Given the description of an element on the screen output the (x, y) to click on. 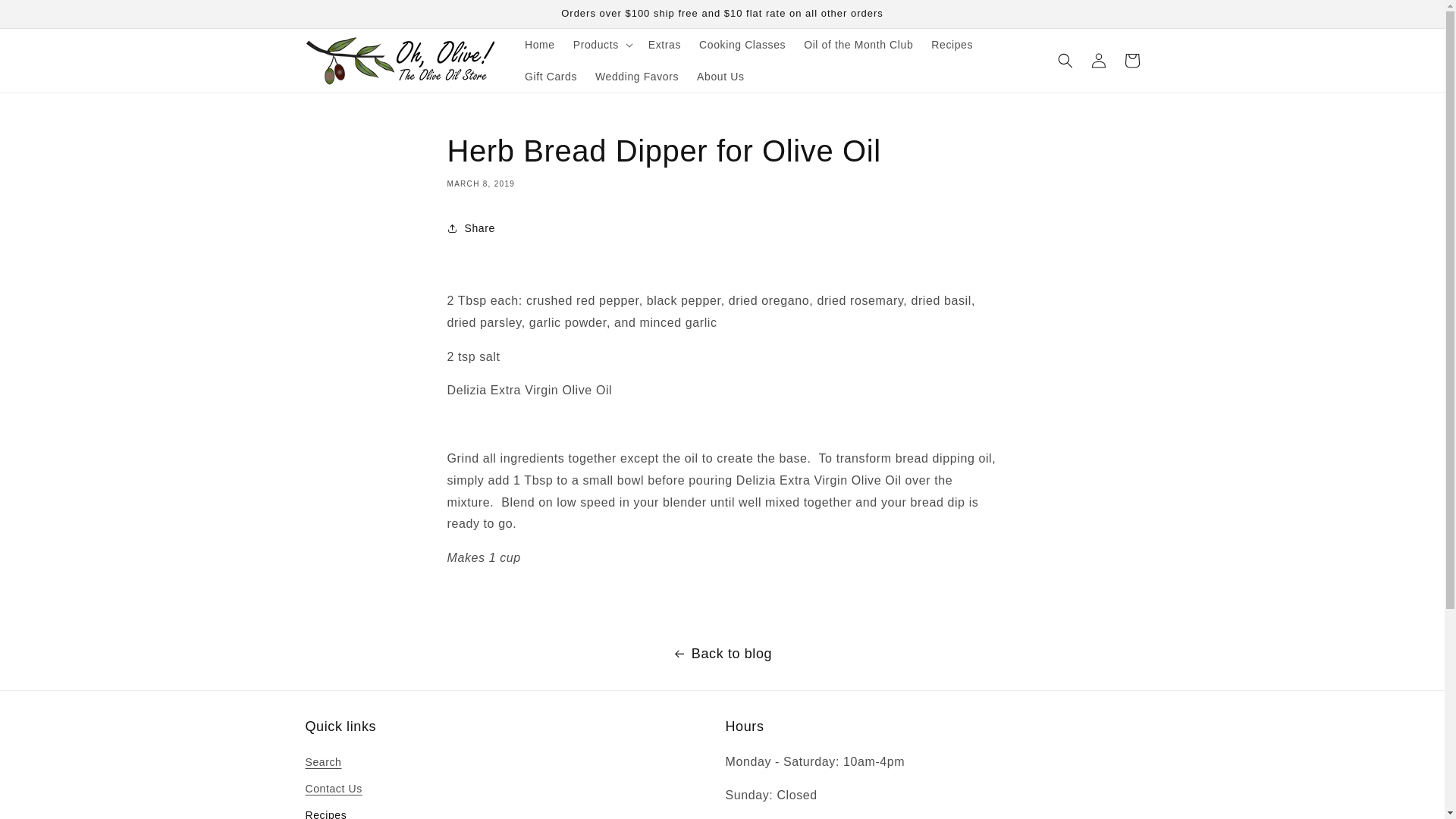
Home (539, 44)
Skip to content (45, 17)
